Given the description of an element on the screen output the (x, y) to click on. 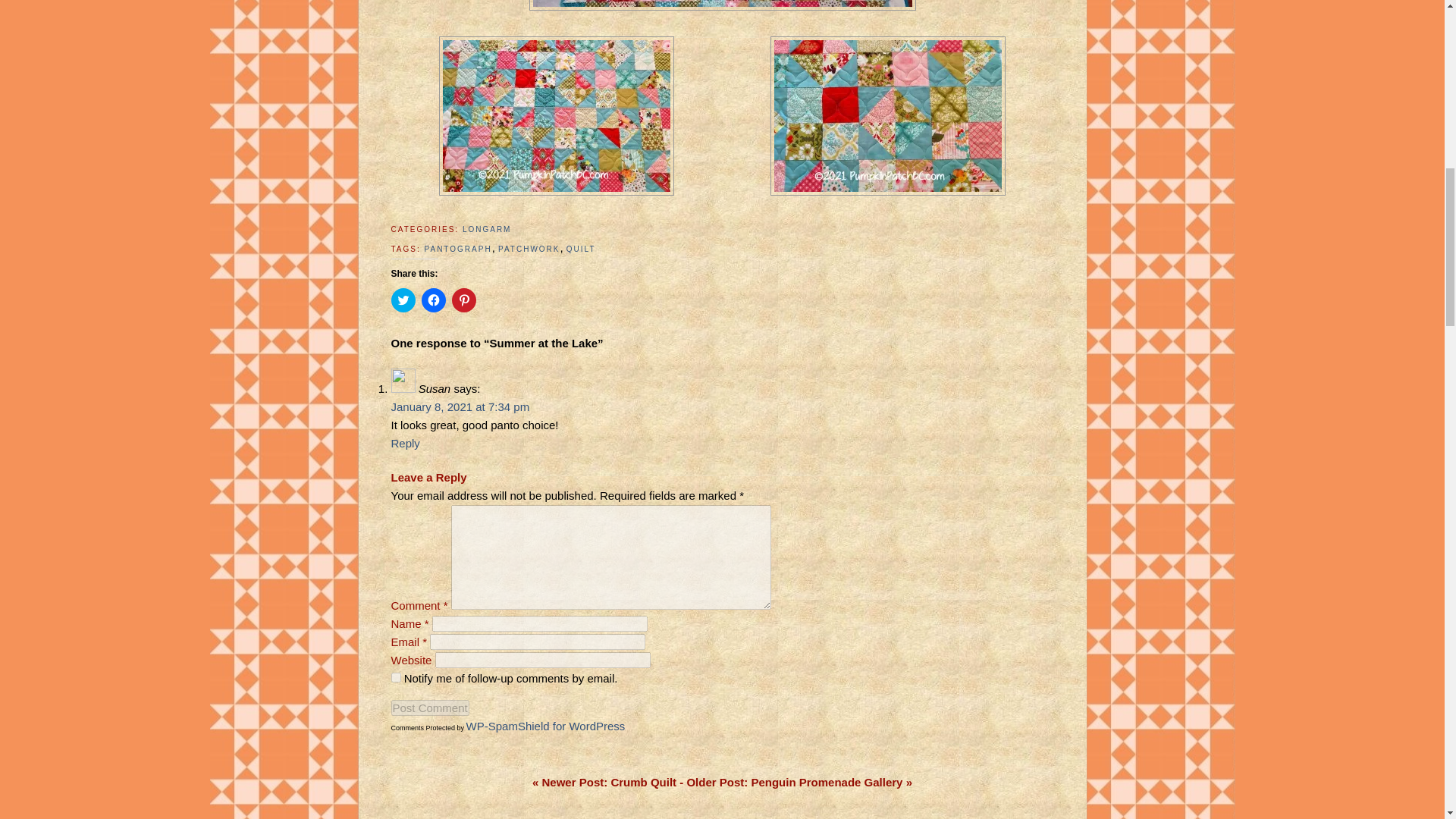
QUILT (580, 248)
Click to share on Facebook (433, 300)
WP-SpamShield WordPress Anti-Spam Plugin (545, 725)
LONGARM (487, 229)
Click to share on Twitter (402, 300)
Post Comment (429, 707)
Reply (405, 442)
Click to share on Pinterest (463, 300)
PANTOGRAPH (458, 248)
PATCHWORK (528, 248)
WP-SpamShield for WordPress (545, 725)
Post Comment (429, 707)
subscribe (396, 677)
January 8, 2021 at 7:34 pm (460, 406)
